Given the description of an element on the screen output the (x, y) to click on. 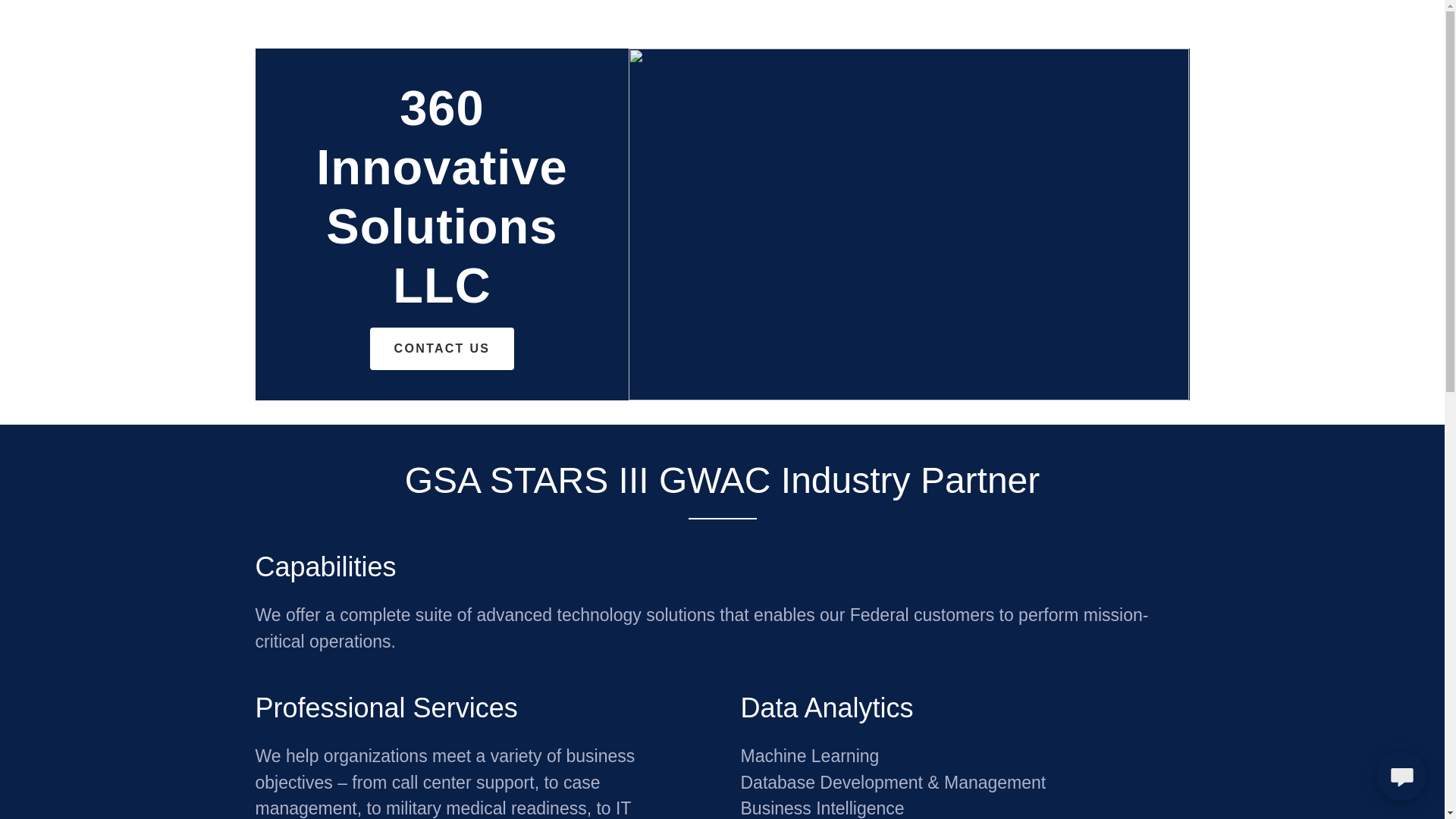
CONTACT US Element type: text (442, 348)
360 Innovative
Solutions LLC Element type: text (441, 297)
